Given the description of an element on the screen output the (x, y) to click on. 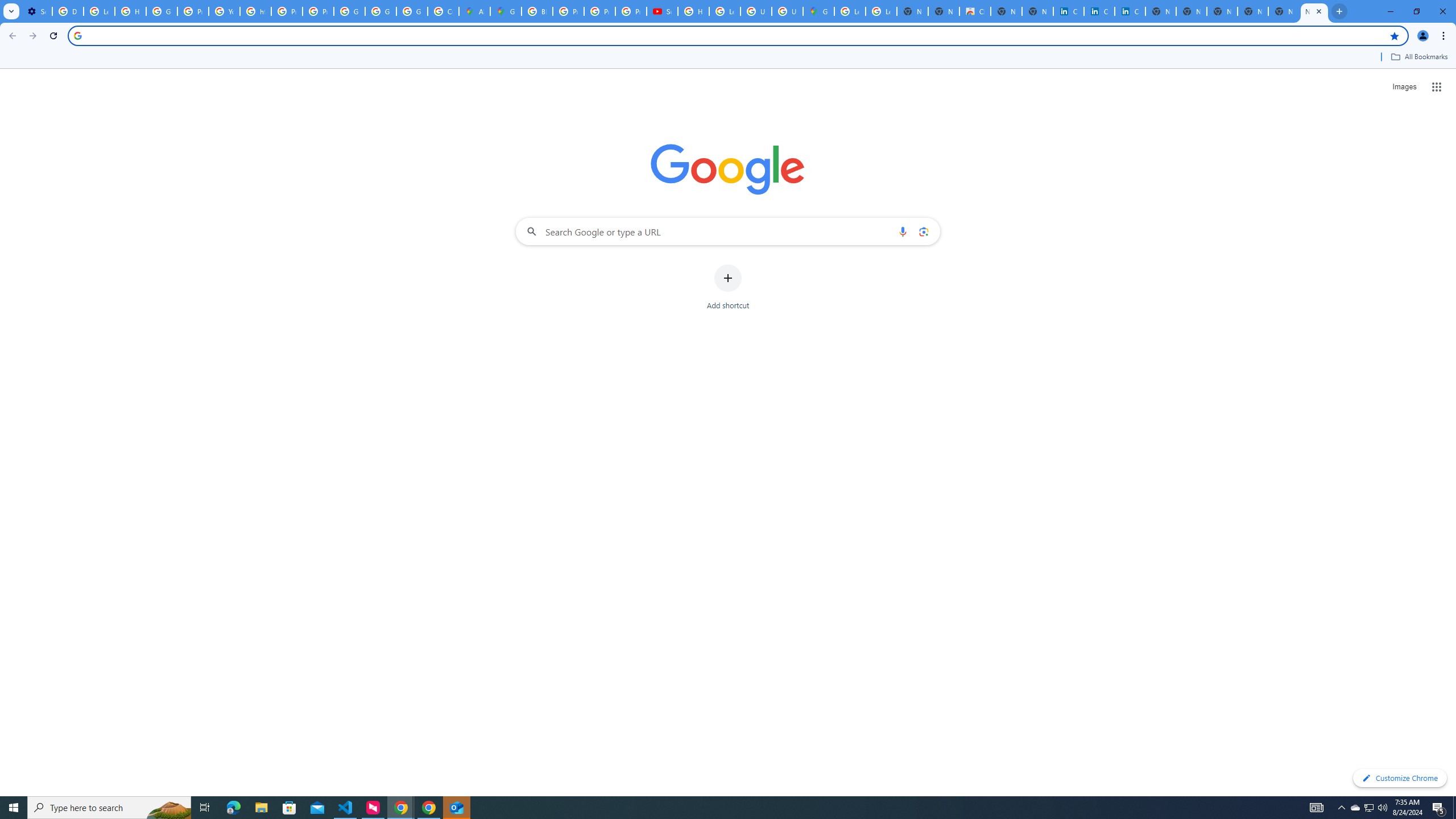
New Tab (1252, 11)
Privacy Help Center - Policies Help (286, 11)
YouTube (223, 11)
https://scholar.google.com/ (255, 11)
Blogger Policies and Guidelines - Transparency Center (536, 11)
Create your Google Account (443, 11)
Cookie Policy | LinkedIn (1068, 11)
